Given the description of an element on the screen output the (x, y) to click on. 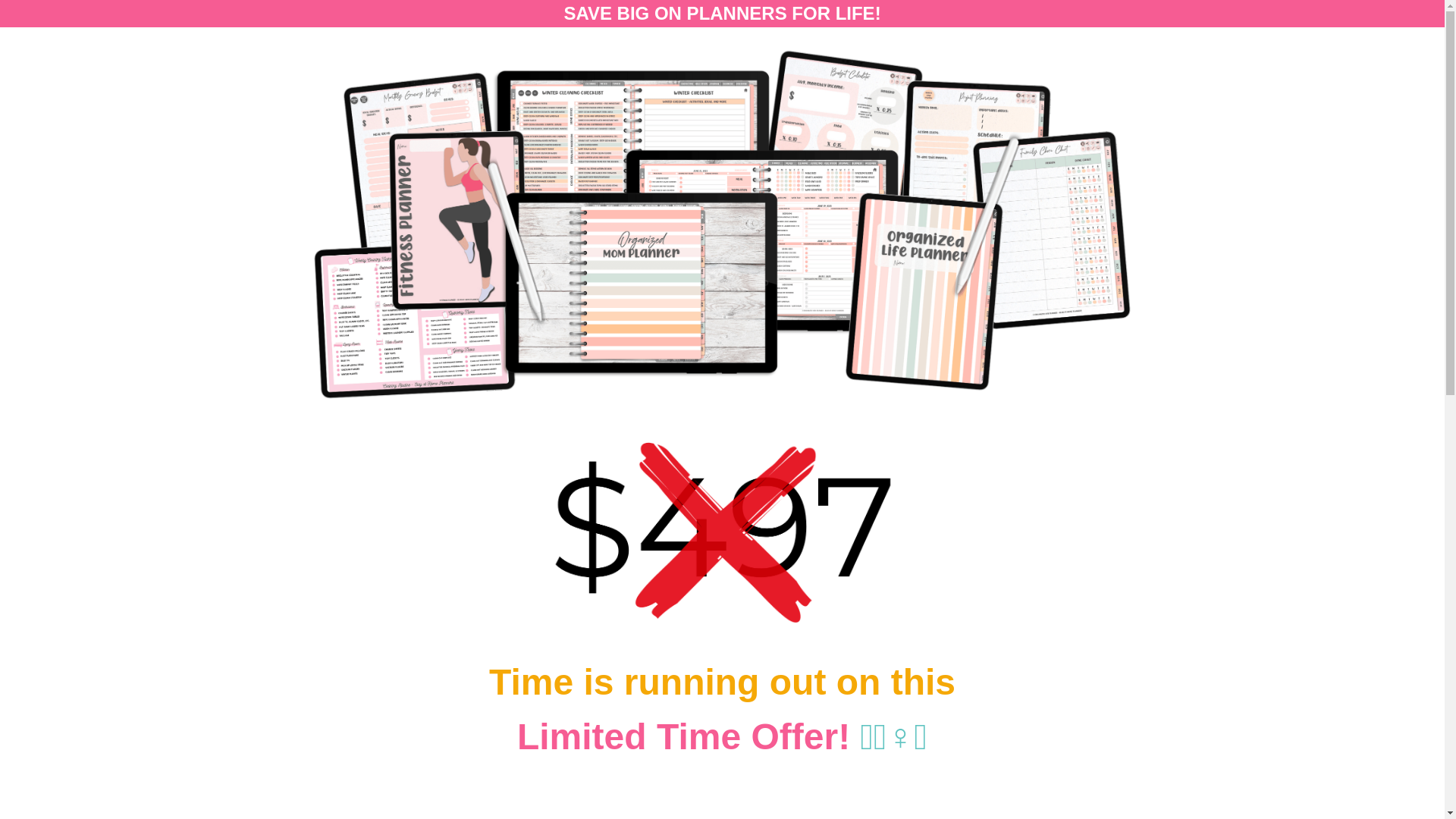
497 (721, 533)
